Given the description of an element on the screen output the (x, y) to click on. 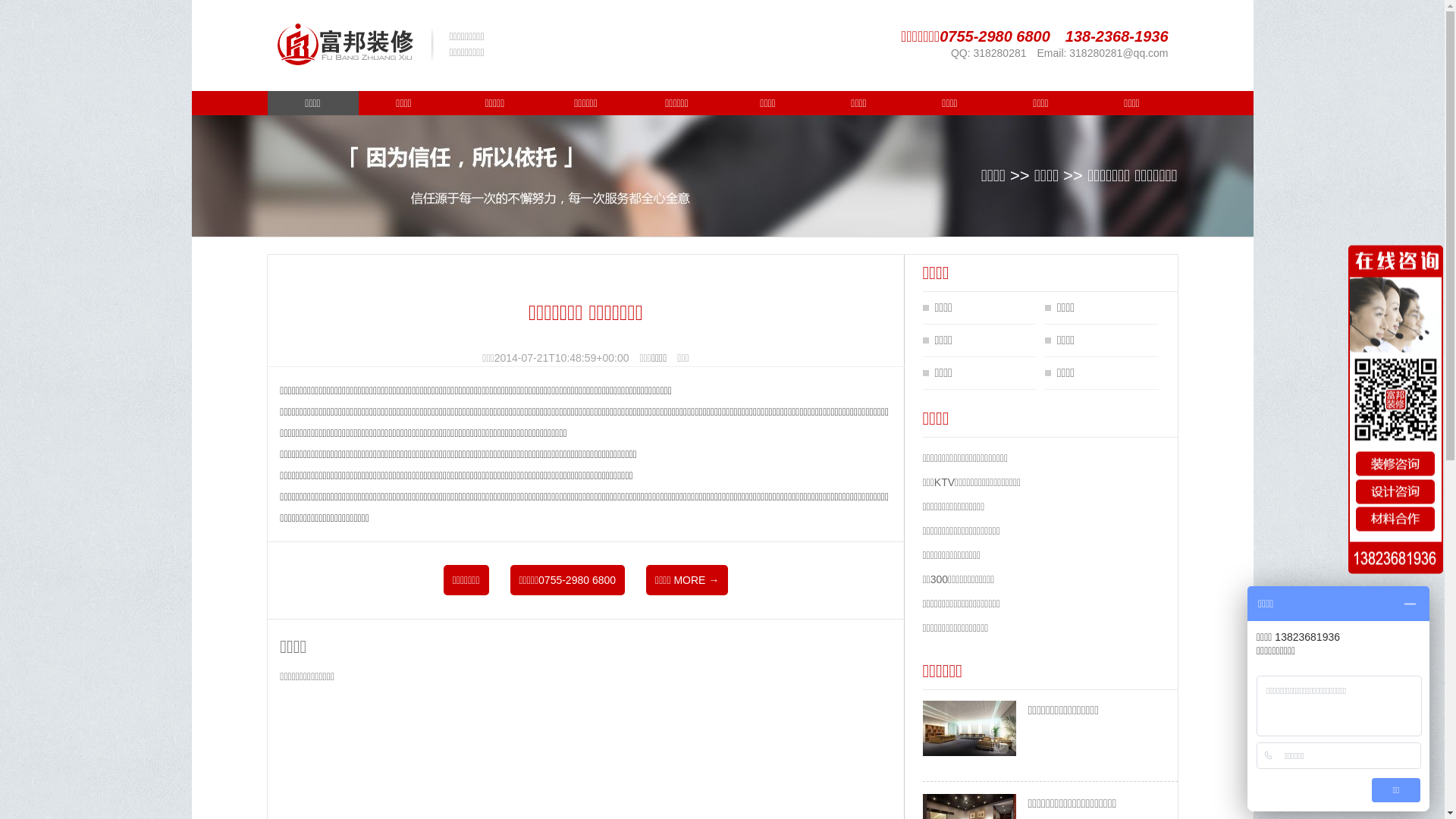
QQ: 318280281 Element type: text (988, 53)
